Given the description of an element on the screen output the (x, y) to click on. 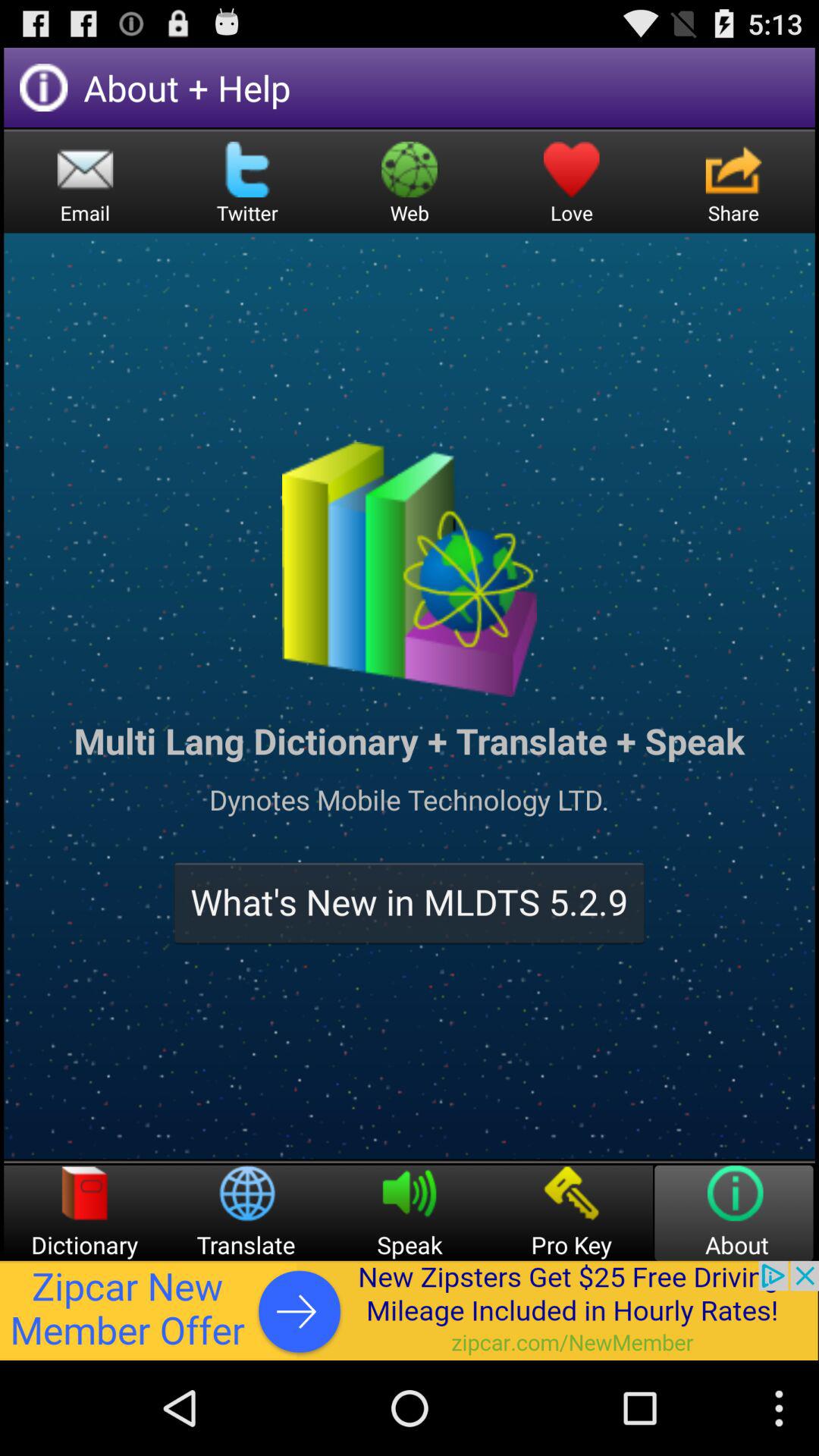
advertisement (409, 1310)
